Given the description of an element on the screen output the (x, y) to click on. 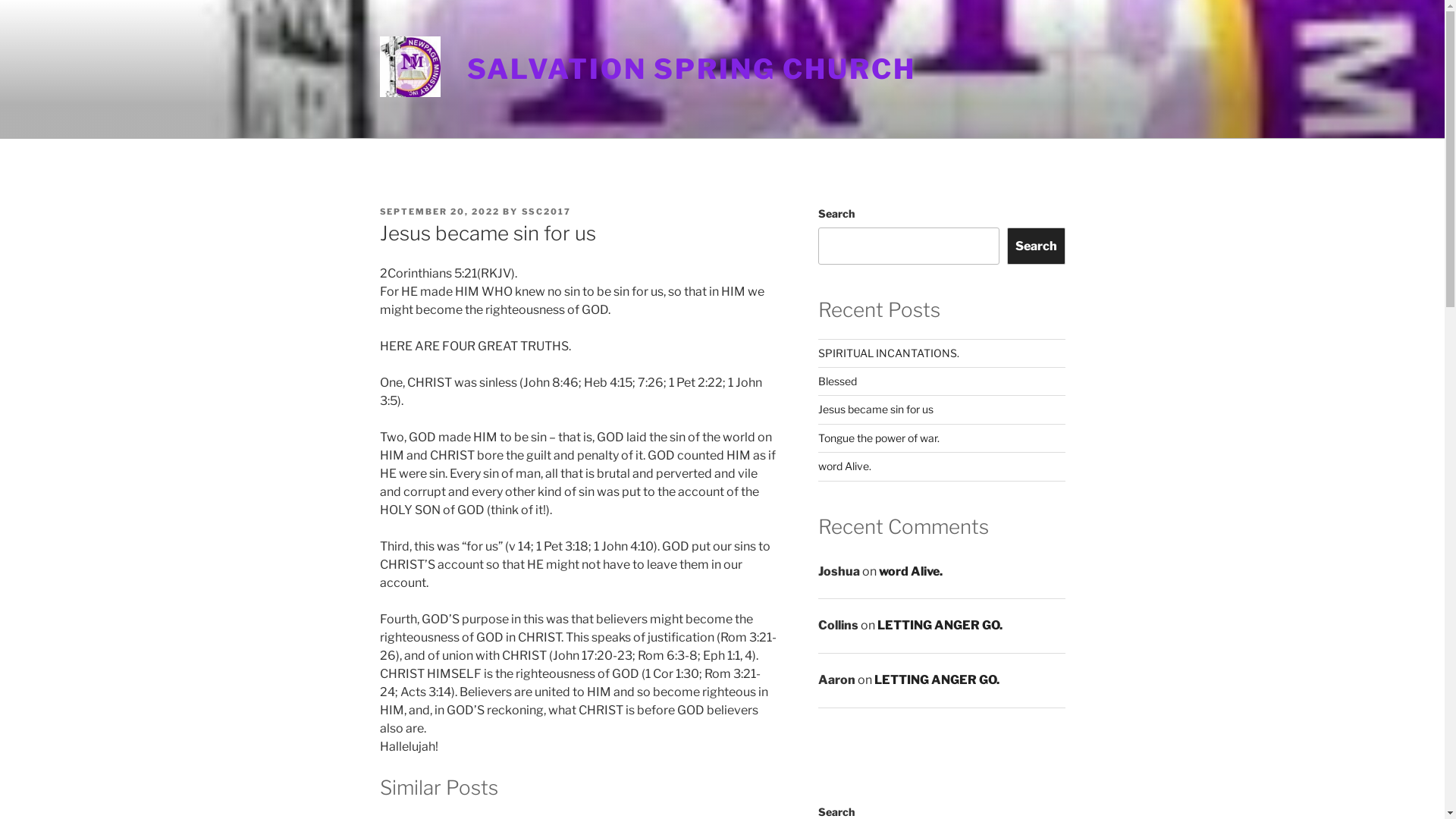
Search Element type: text (1036, 245)
LETTING ANGER GO. Element type: text (939, 625)
Blessed Element type: text (837, 380)
word Alive. Element type: text (844, 465)
SPIRITUAL INCANTATIONS. Element type: text (888, 352)
Tongue the power of war. Element type: text (878, 437)
Jesus became sin for us Element type: text (875, 408)
SALVATION SPRING CHURCH Element type: text (691, 68)
SSC2017 Element type: text (546, 211)
word Alive. Element type: text (910, 571)
SEPTEMBER 20, 2022 Element type: text (439, 211)
LETTING ANGER GO. Element type: text (936, 679)
